Given the description of an element on the screen output the (x, y) to click on. 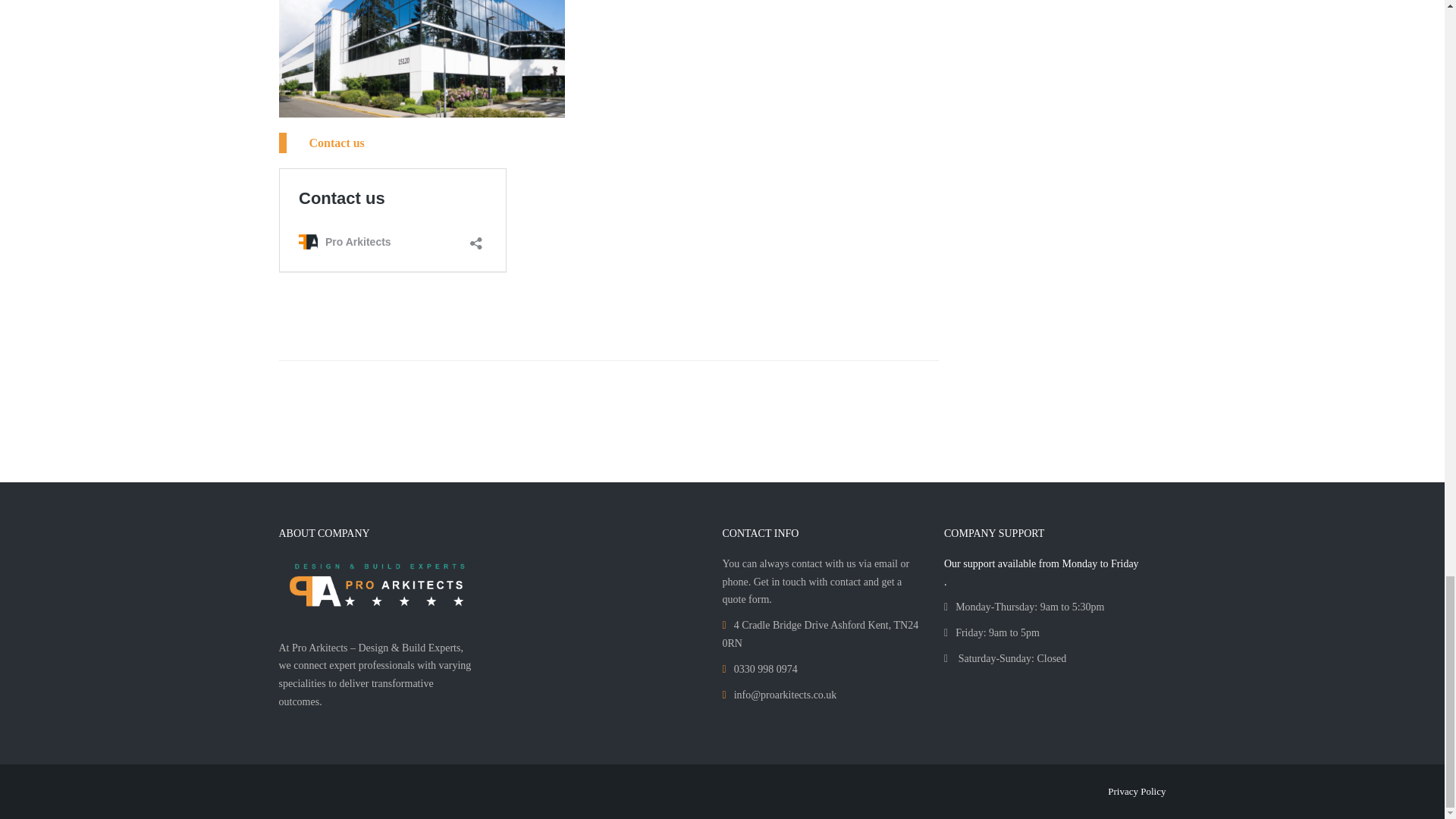
Contact us (336, 142)
